Given the description of an element on the screen output the (x, y) to click on. 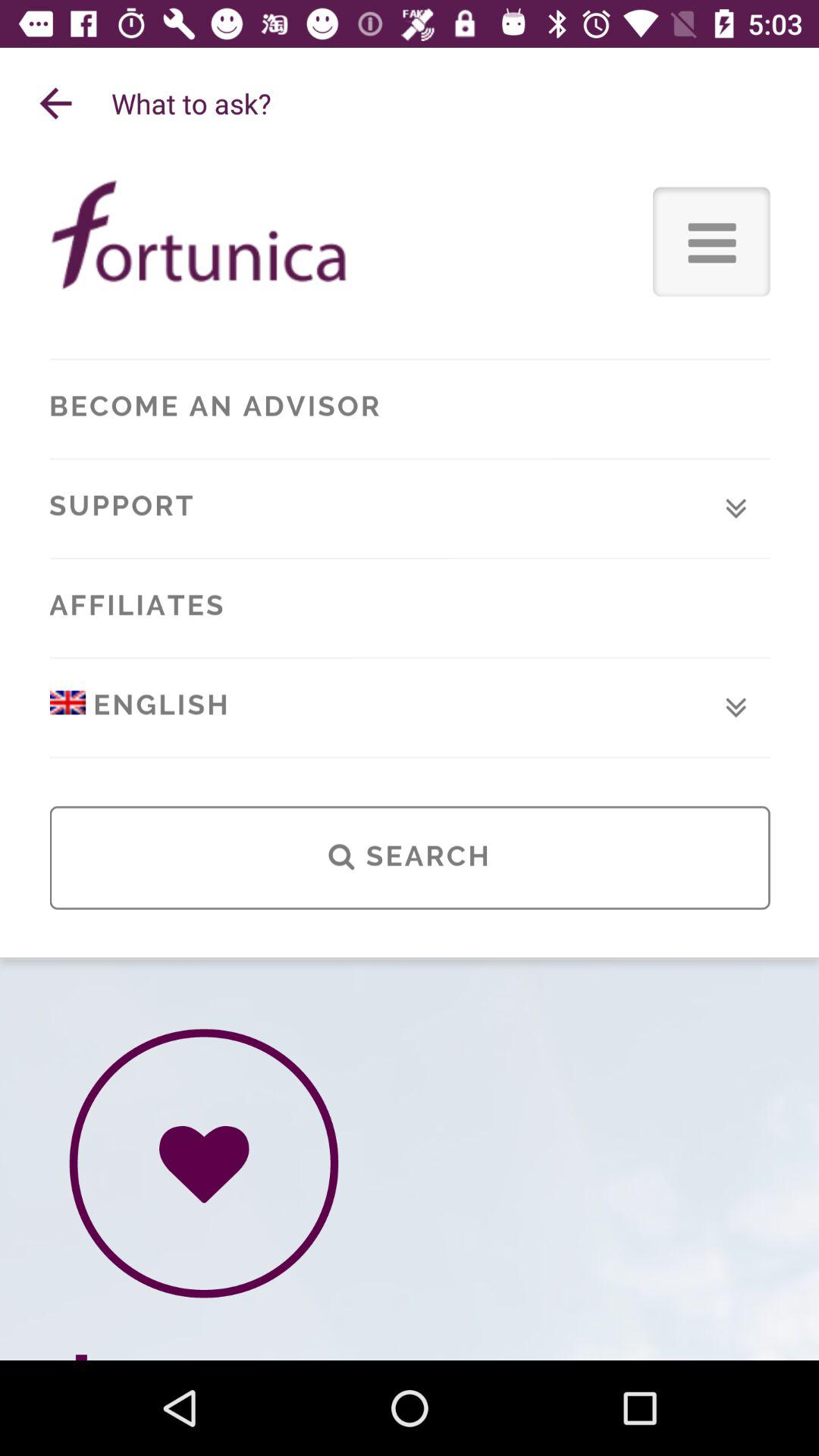
main image screen (409, 759)
